Given the description of an element on the screen output the (x, y) to click on. 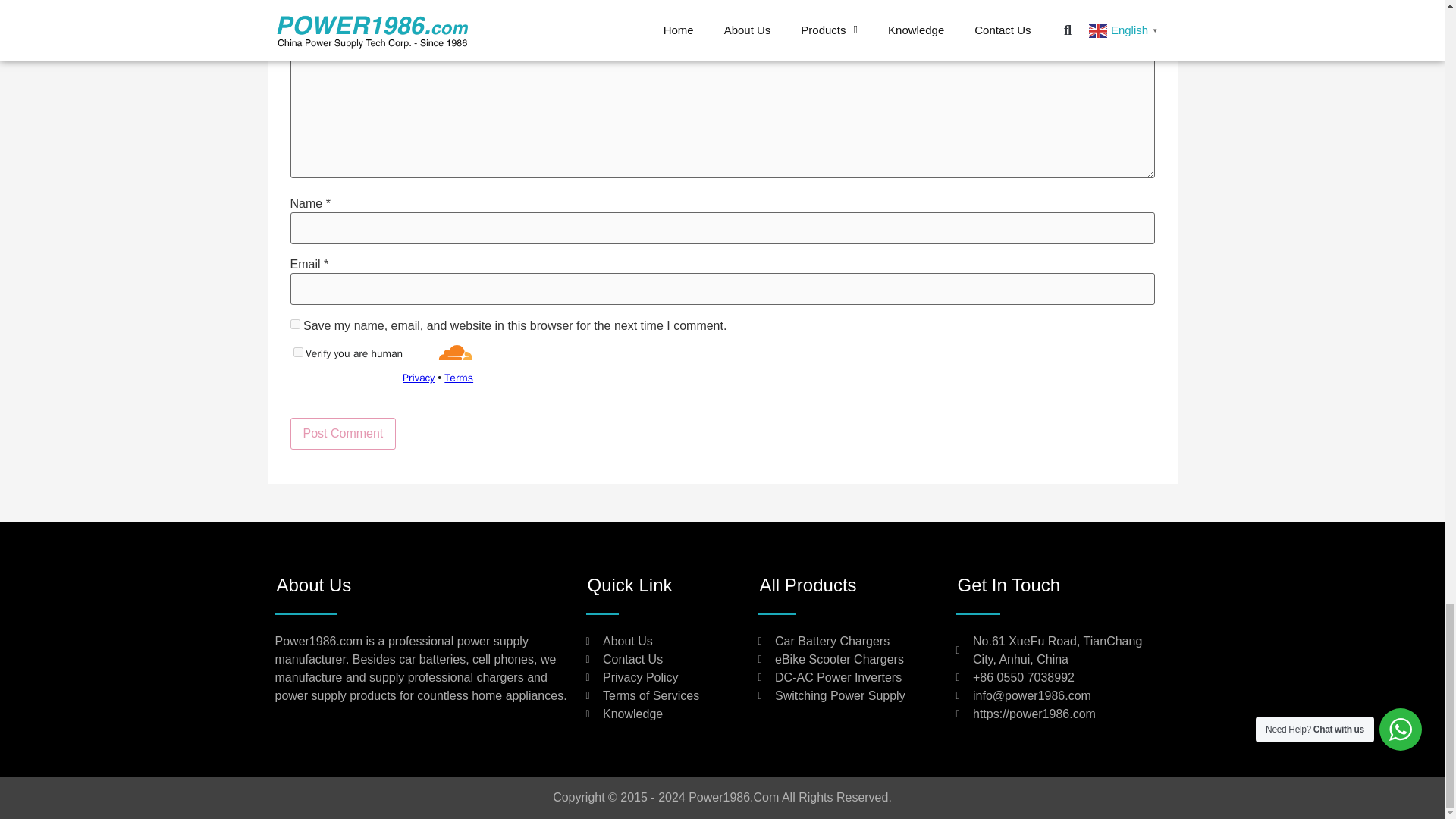
yes (294, 324)
Post Comment (342, 433)
